Given the description of an element on the screen output the (x, y) to click on. 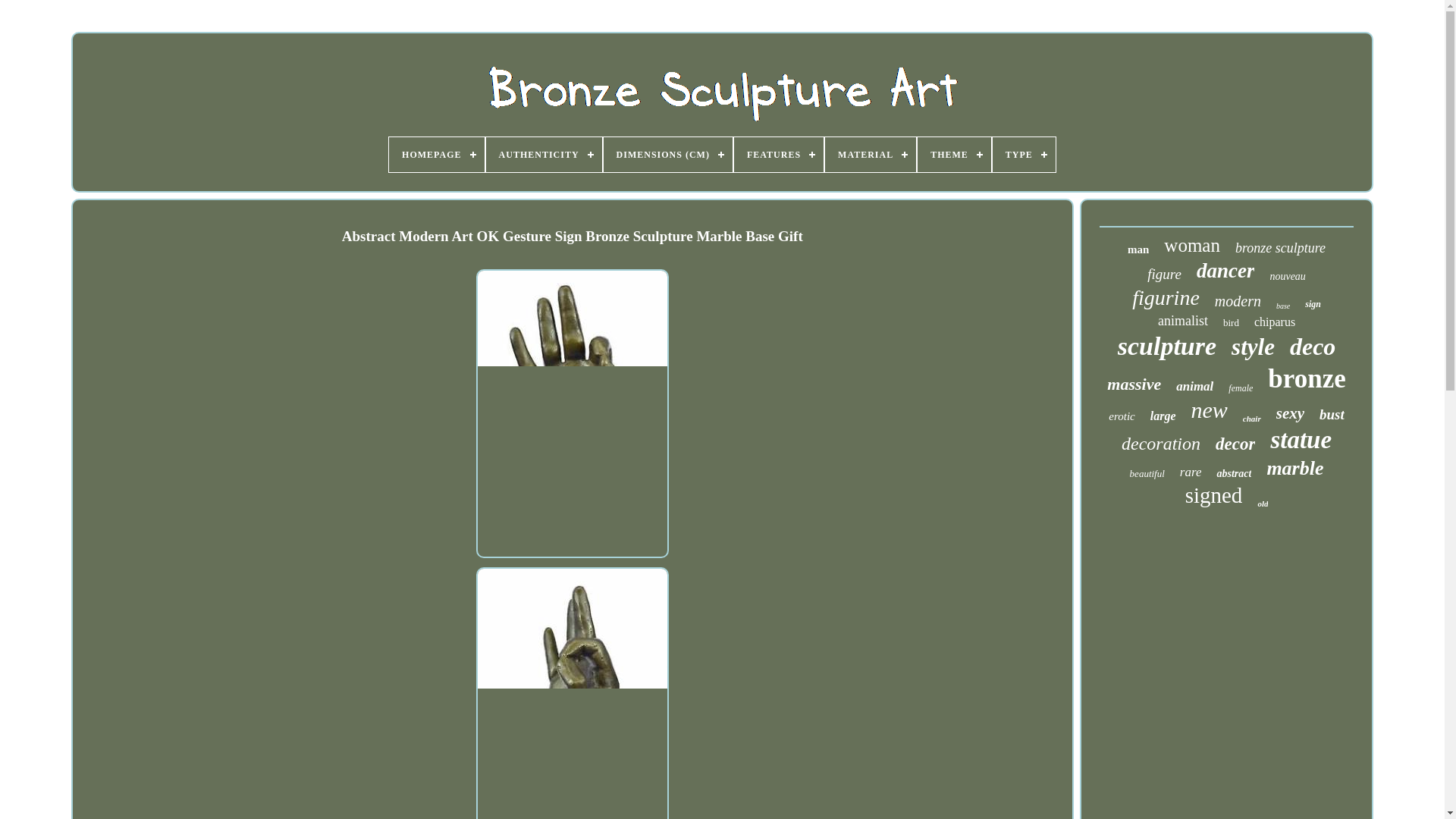
HOMEPAGE (435, 154)
MATERIAL (870, 154)
FEATURES (778, 154)
THEME (954, 154)
AUTHENTICITY (544, 154)
